Given the description of an element on the screen output the (x, y) to click on. 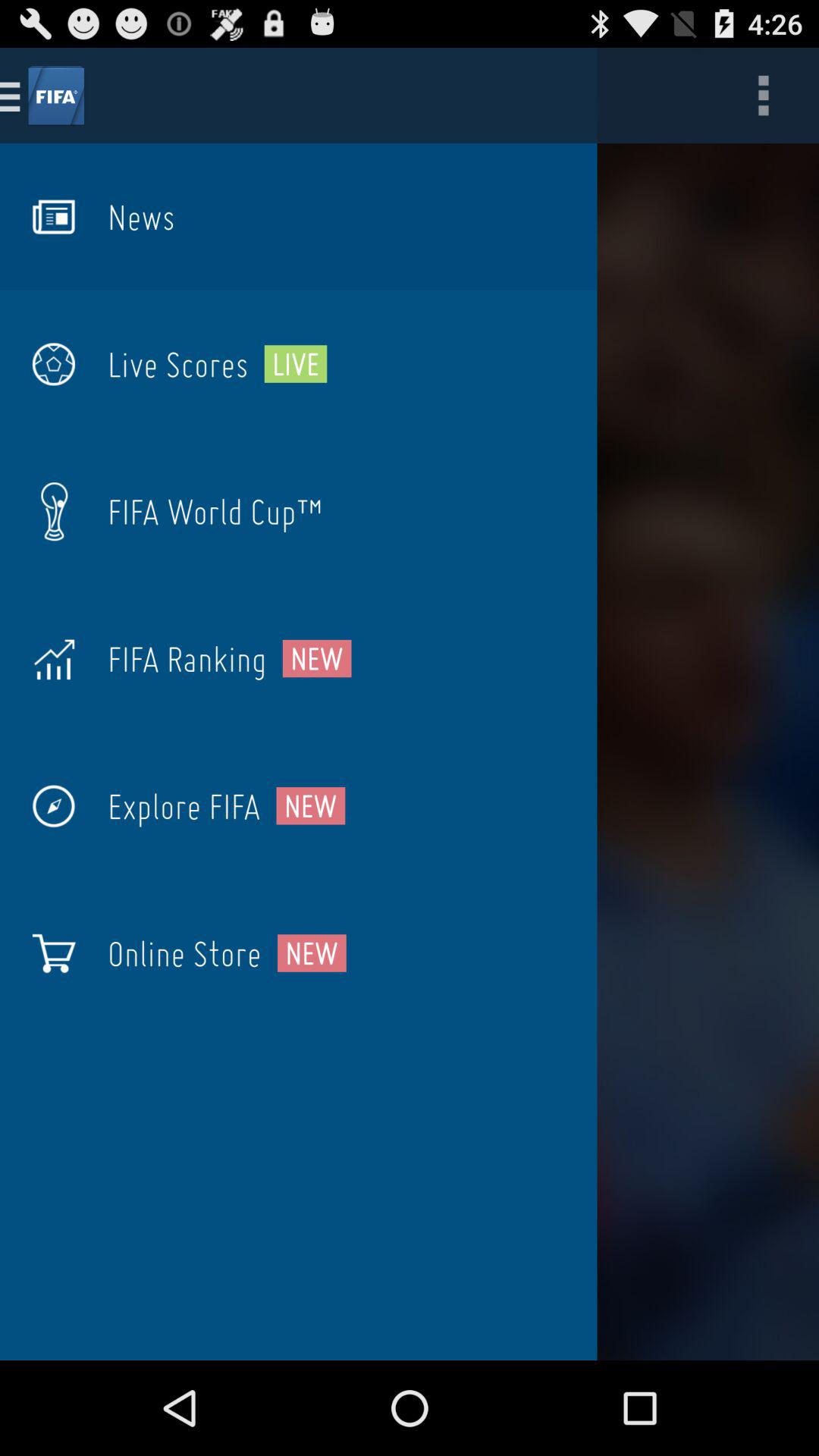
open icon to the left of the new (184, 953)
